Given the description of an element on the screen output the (x, y) to click on. 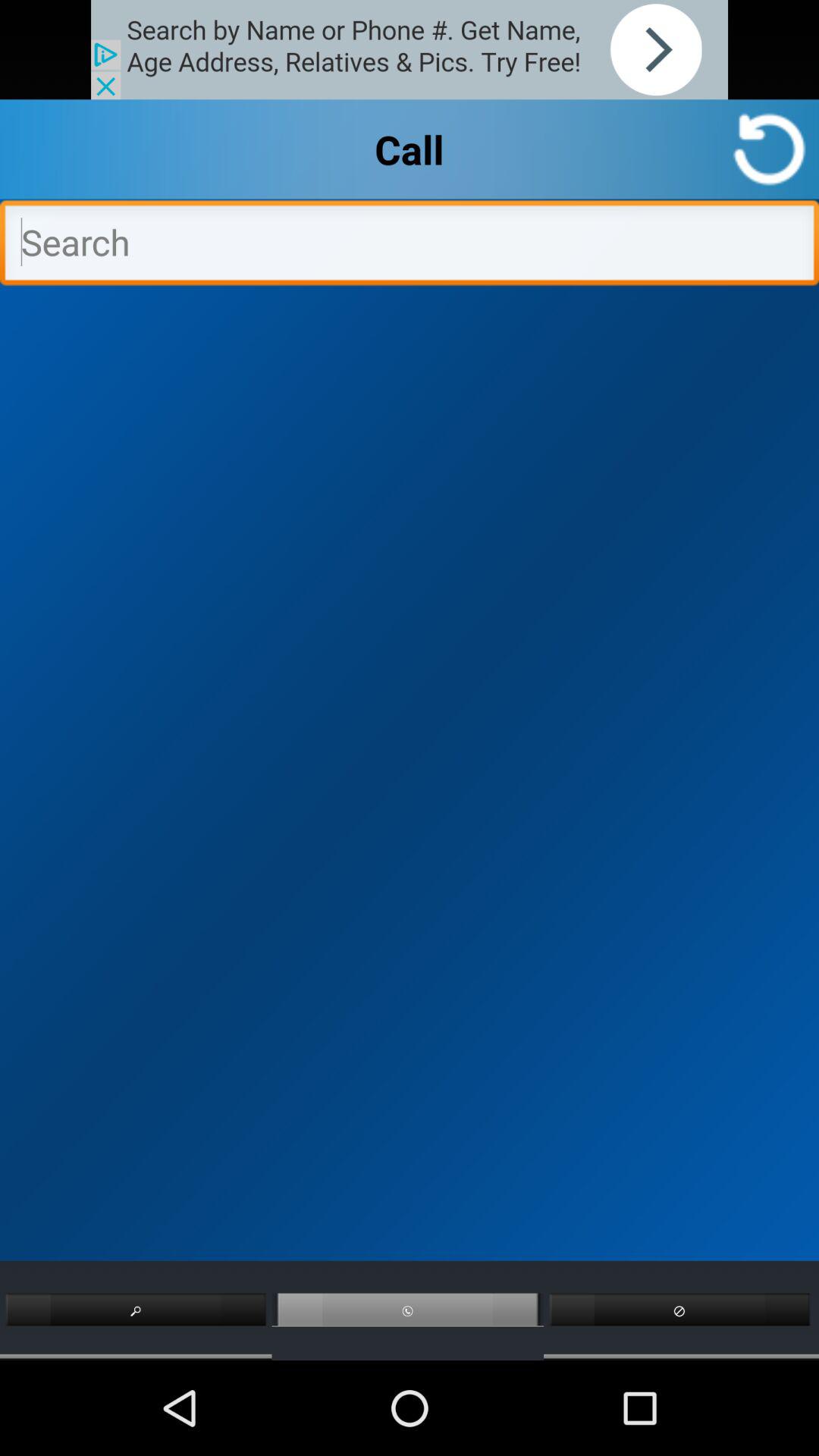
switch reload option (769, 149)
